Given the description of an element on the screen output the (x, y) to click on. 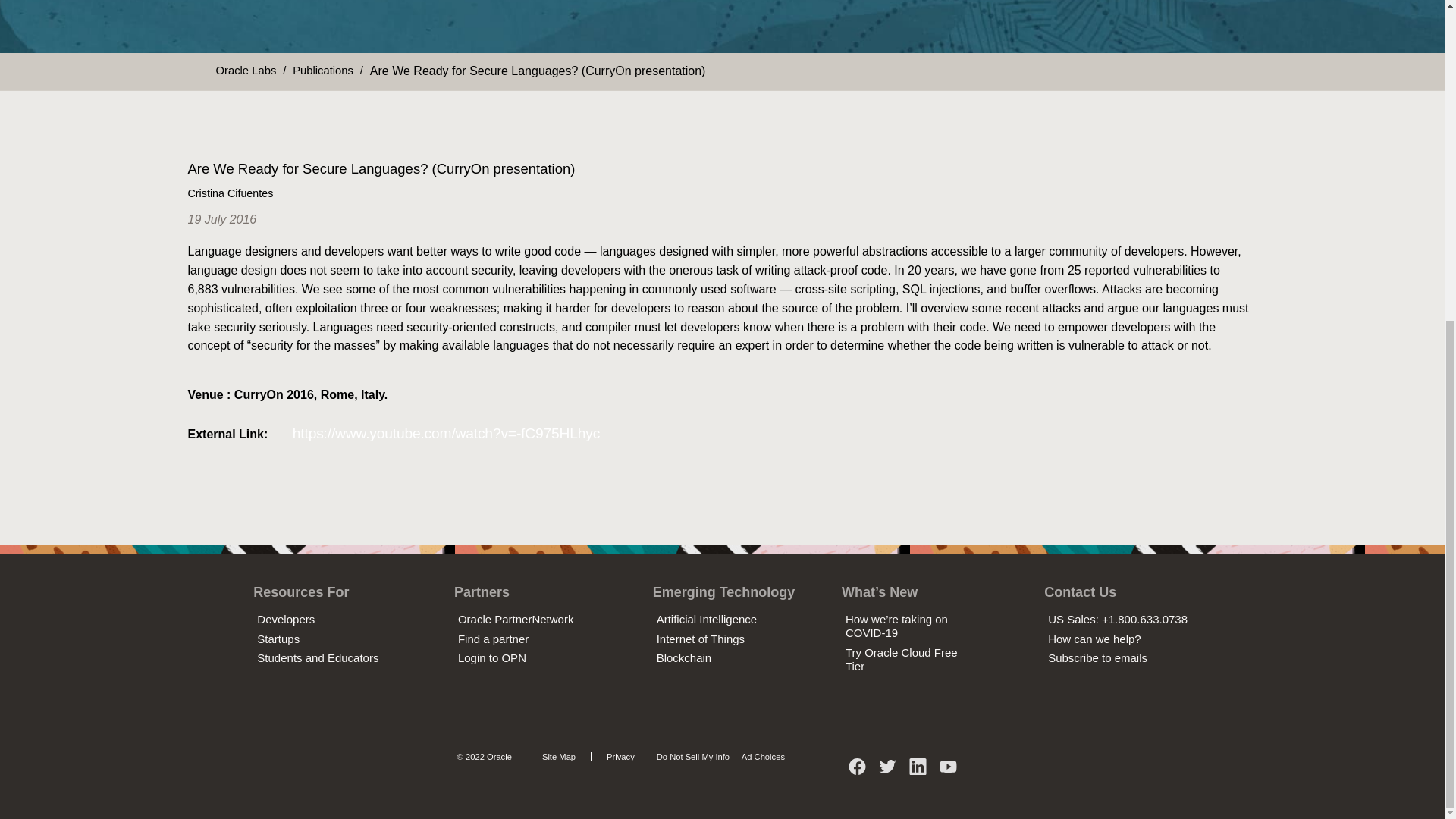
Oracle on Facebook (857, 771)
Students and Educators (317, 657)
Internet of Things (700, 638)
Startups (278, 638)
Privacy (616, 756)
Subscribe to emails (1097, 657)
Do Not Sell My Info (689, 756)
Developers (285, 618)
Oracle PartnerNetwork (515, 618)
Find a partner (493, 638)
Site Map (559, 756)
Blockchain (683, 657)
Artificial Intelligence (706, 618)
Watch Oracle on YouTube (948, 771)
Login to OPN (491, 657)
